Given the description of an element on the screen output the (x, y) to click on. 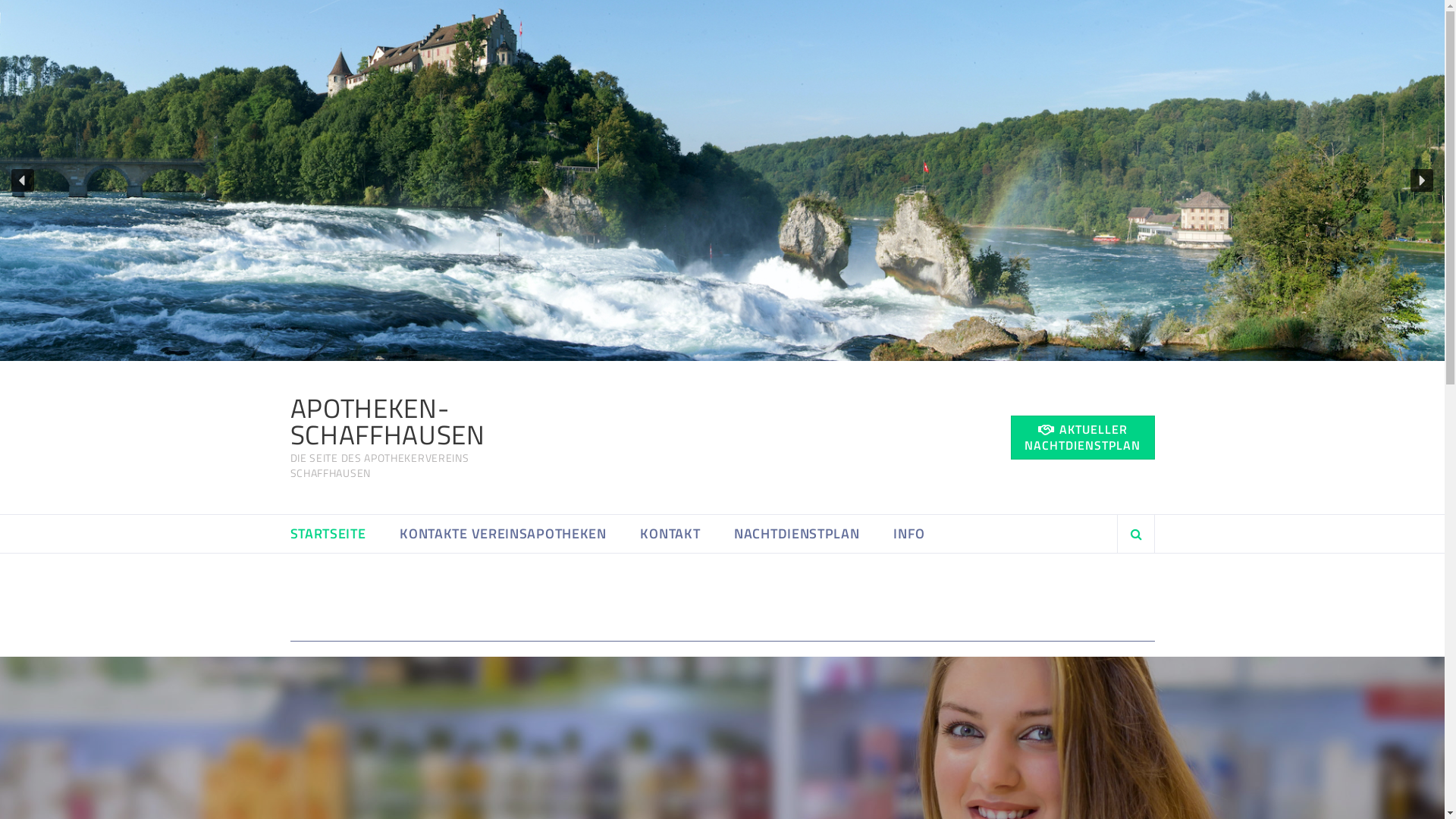
AKTUELLER NACHTDIENSTPLAN Element type: text (1082, 437)
NACHTDIENSTPLAN Element type: text (796, 533)
Hledat Element type: text (1116, 580)
KONTAKTE VEREINSAPOTHEKEN Element type: text (502, 533)
STARTSEITE Element type: text (327, 533)
INFO Element type: text (909, 533)
APOTHEKEN-SCHAFFHAUSEN Element type: text (386, 421)
KONTAKT Element type: text (669, 533)
